Given the description of an element on the screen output the (x, y) to click on. 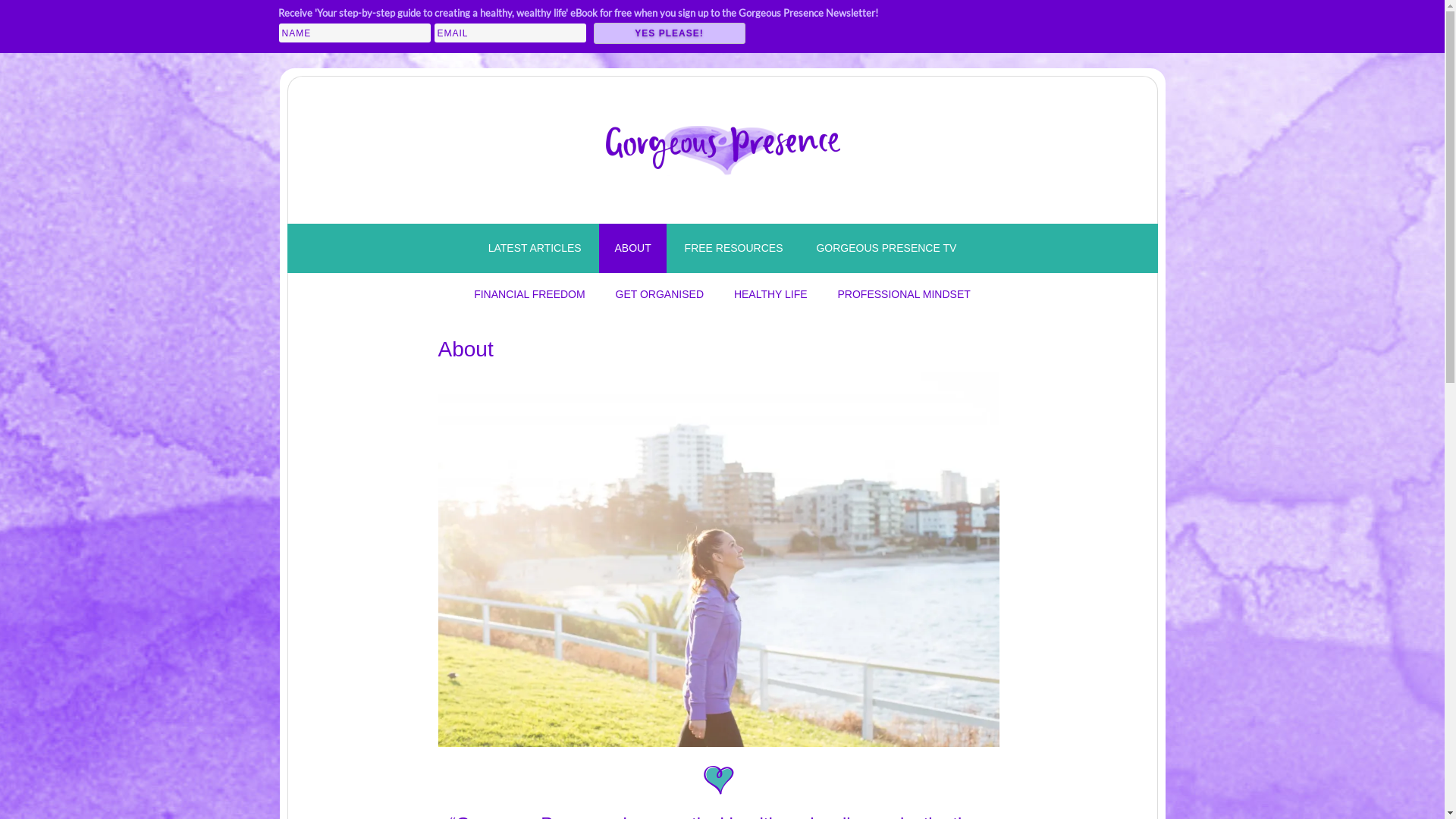
FREE RESOURCES Element type: text (733, 248)
LATEST ARTICLES Element type: text (534, 248)
PROFESSIONAL MINDSET Element type: text (904, 294)
GET ORGANISED Element type: text (659, 294)
GORGEOUS PRESENCE TV Element type: text (885, 248)
HEALTHY LIFE Element type: text (770, 294)
ABOUT Element type: text (632, 248)
Yes please! Element type: text (668, 32)
Gorgeous Presence Element type: text (721, 146)
FINANCIAL FREEDOM Element type: text (529, 294)
